Given the description of an element on the screen output the (x, y) to click on. 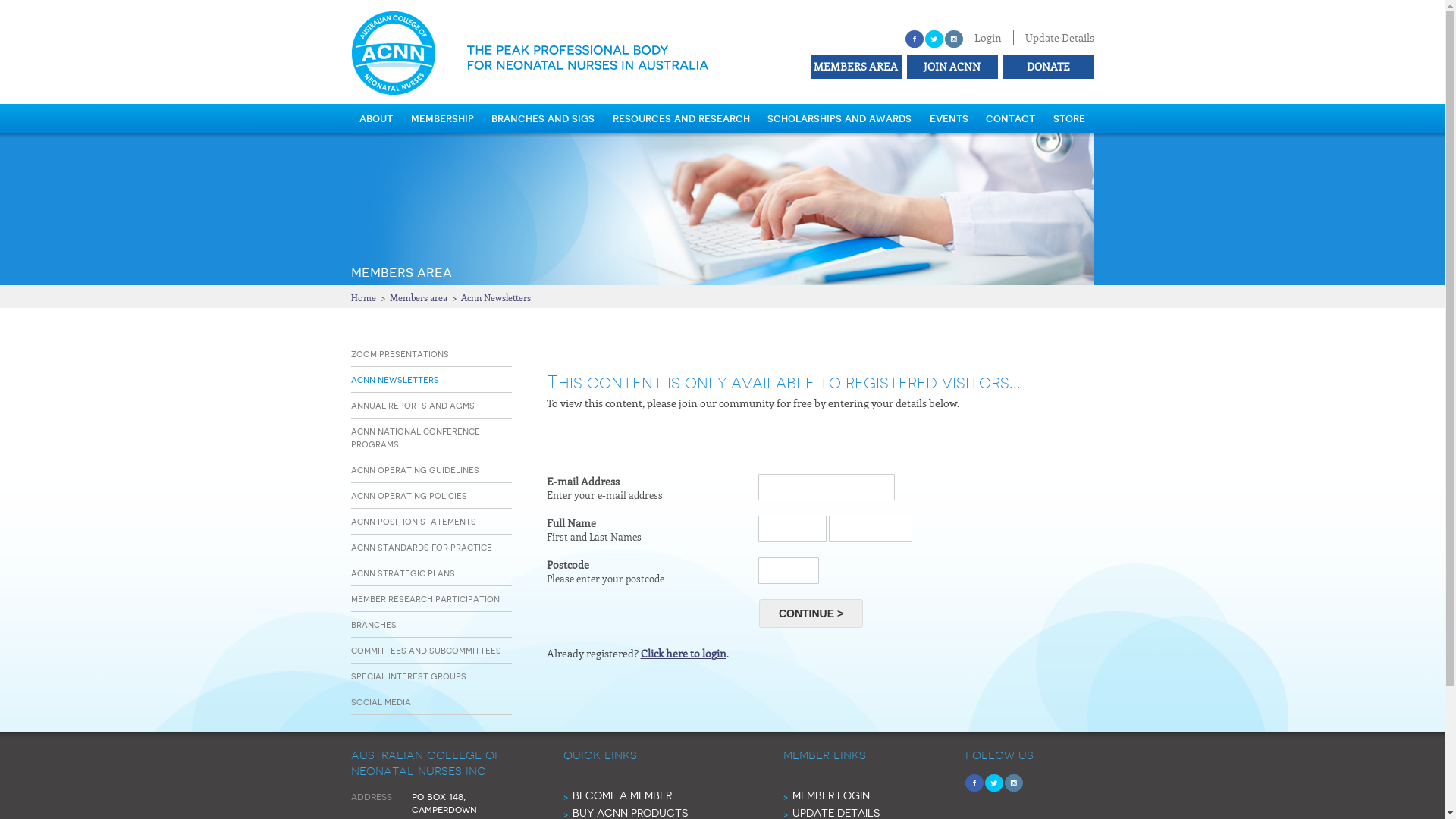
UPDATE DETAILS Element type: text (834, 812)
acnn strategic plans Element type: text (402, 572)
acnn standards for practice Element type: text (420, 547)
contact Element type: text (1010, 118)
BUY ACNN PRODUCTS Element type: text (629, 812)
acnn position statements Element type: text (412, 521)
Home Element type: text (362, 297)
about Element type: text (375, 118)
branches and sigs Element type: text (542, 118)
member research participation Element type: text (424, 598)
resources and research Element type: text (681, 118)
Facebook Element type: hover (973, 782)
Update Details Element type: text (1059, 37)
DONATE Element type: text (1046, 66)
annual reports and agms Element type: text (411, 405)
acnn national conference programs Element type: text (414, 437)
BECOME A MEMBER Element type: text (621, 795)
Click here to login Element type: text (682, 653)
Login Element type: text (987, 37)
MEMBERS AREA Element type: text (853, 66)
Members area Element type: text (418, 297)
acnn newsletters Element type: text (394, 379)
social media Element type: text (380, 701)
Twitter Element type: hover (934, 38)
Acnn Newsletters Element type: text (495, 297)
events Element type: text (948, 118)
Twitter Element type: hover (993, 782)
Facebook Element type: hover (914, 38)
Instagram Element type: hover (1013, 782)
acnn operating policies Element type: text (408, 495)
Instagram Element type: hover (953, 38)
members area Element type: text (400, 271)
special interest groups Element type: text (407, 675)
branches Element type: text (372, 624)
membership Element type: text (442, 118)
MEMBER LOGIN Element type: text (830, 795)
scholarships and awards Element type: text (839, 118)
zoom presentations Element type: text (399, 353)
acnn operating guidelines Element type: text (414, 469)
JOIN ACNN Element type: text (950, 66)
committees and subcommittees Element type: text (425, 650)
store Element type: text (1069, 118)
CONTINUE > Element type: text (810, 613)
